Given the description of an element on the screen output the (x, y) to click on. 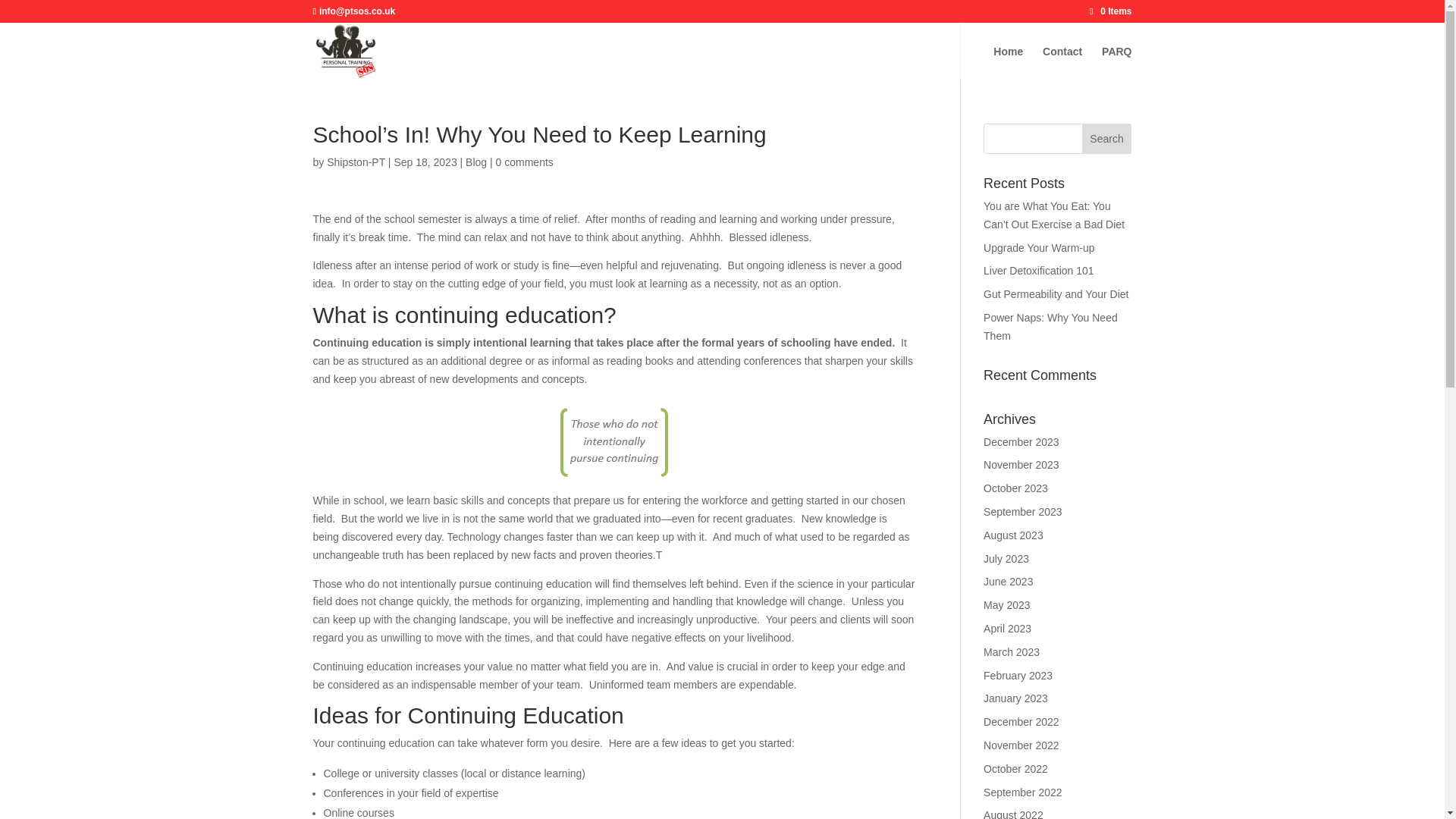
November 2023 (1021, 464)
0 Items (1110, 10)
February 2023 (1018, 675)
June 2023 (1008, 581)
October 2022 (1016, 768)
0 comments (524, 162)
December 2022 (1021, 721)
August 2022 (1013, 814)
Power Naps: Why You Need Them (1051, 327)
Posts by Shipston-PT (355, 162)
May 2023 (1006, 604)
Shipston-PT (355, 162)
Blog (475, 162)
Upgrade Your Warm-up (1039, 247)
Liver Detoxification 101 (1039, 270)
